Given the description of an element on the screen output the (x, y) to click on. 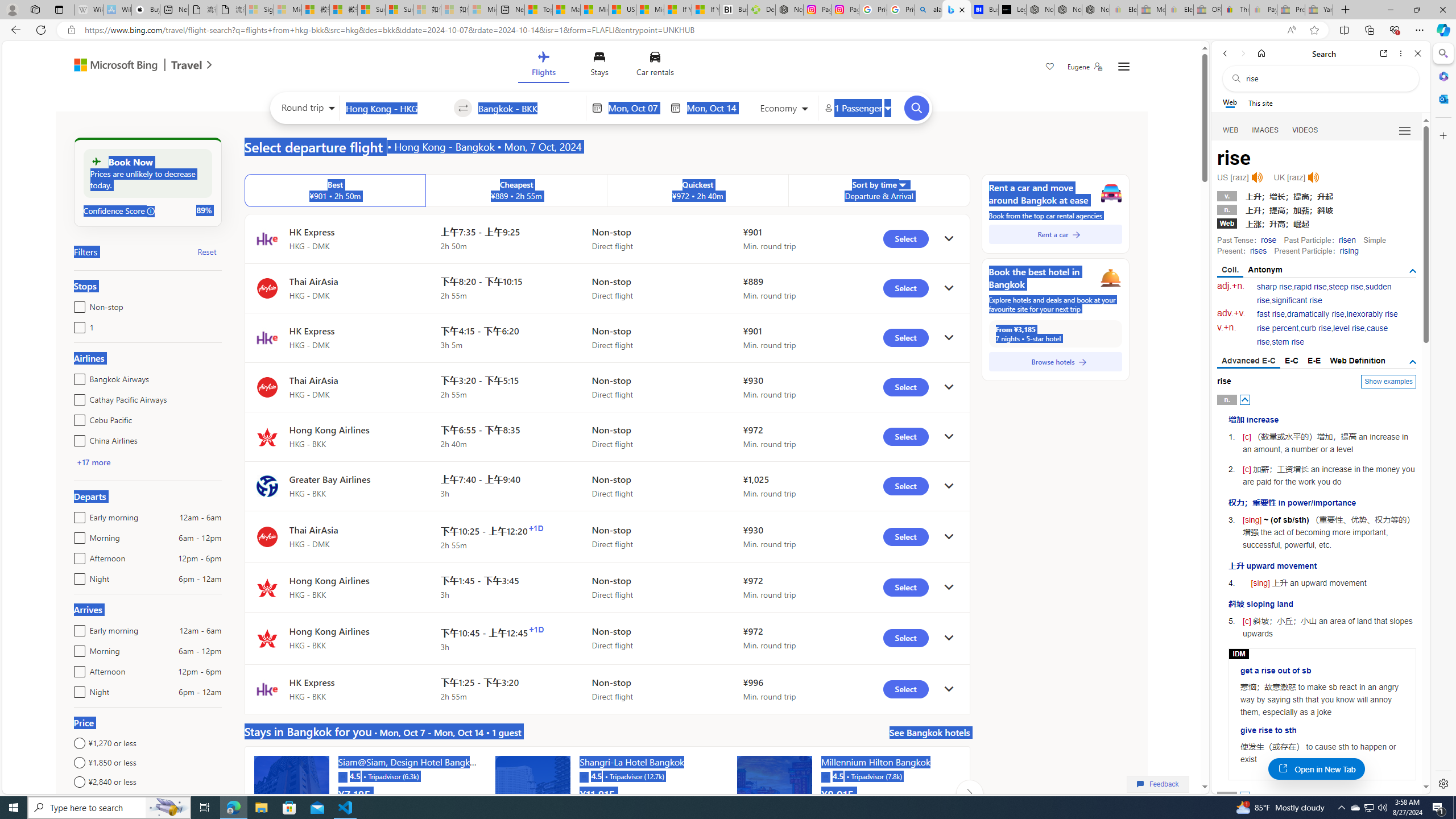
AutomationID: posbtn_0 (1245, 399)
AutomationID: tgsb (1412, 270)
Open link in new tab (1383, 53)
1 Passenger (857, 108)
Descarga Driver Updater (761, 9)
Buy iPad - Apple (145, 9)
Eugene (1084, 66)
Morning6am - 12pm (76, 648)
